Given the description of an element on the screen output the (x, y) to click on. 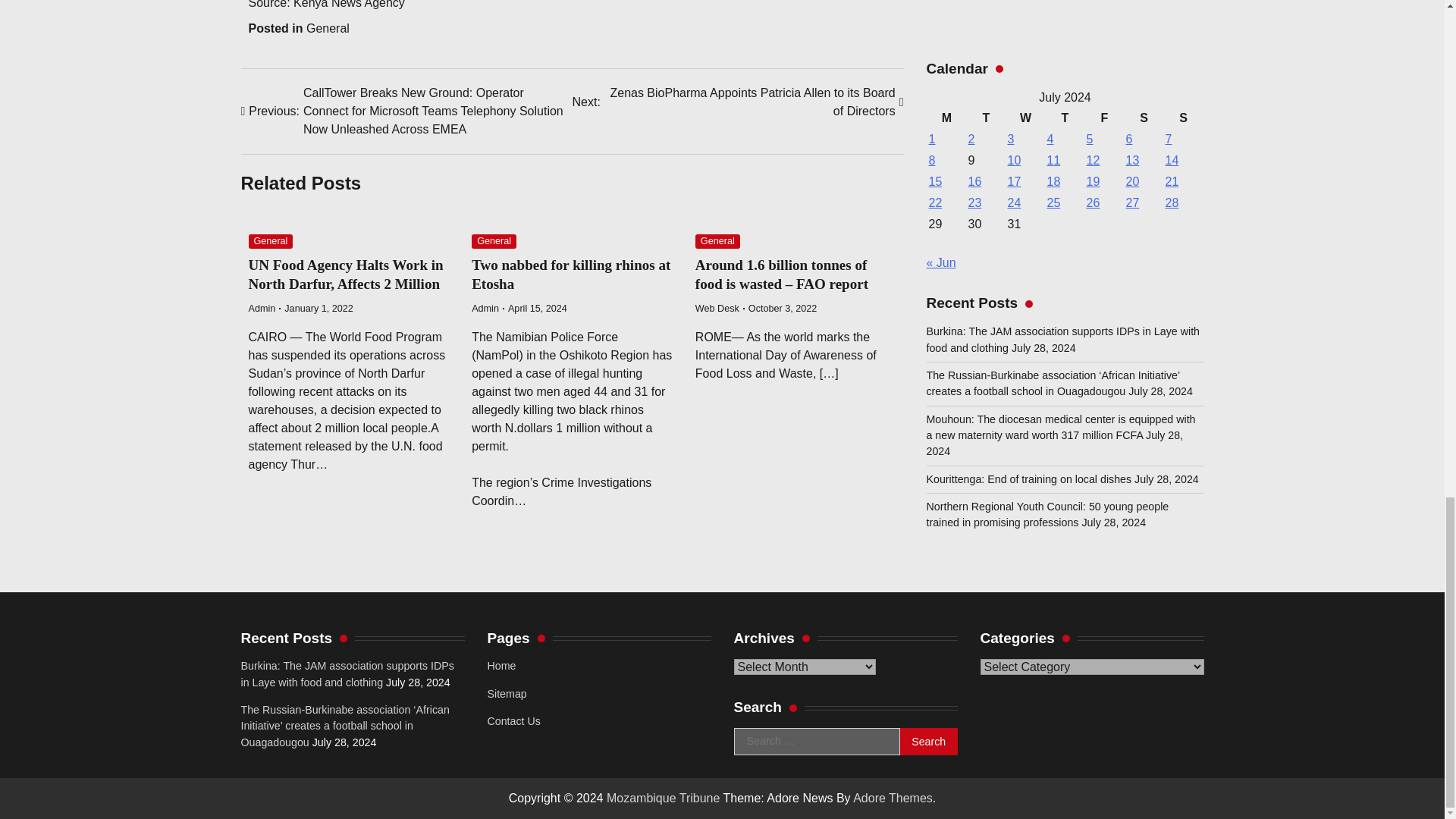
General (271, 241)
General (493, 241)
General (717, 241)
UN Food Agency Halts Work in North Darfur, Affects 2 Million (346, 274)
Admin (485, 308)
Admin (262, 308)
Search (928, 741)
Two nabbed for killing rhinos at Etosha (570, 274)
Search (928, 741)
Web Desk (717, 308)
General (327, 28)
